Given the description of an element on the screen output the (x, y) to click on. 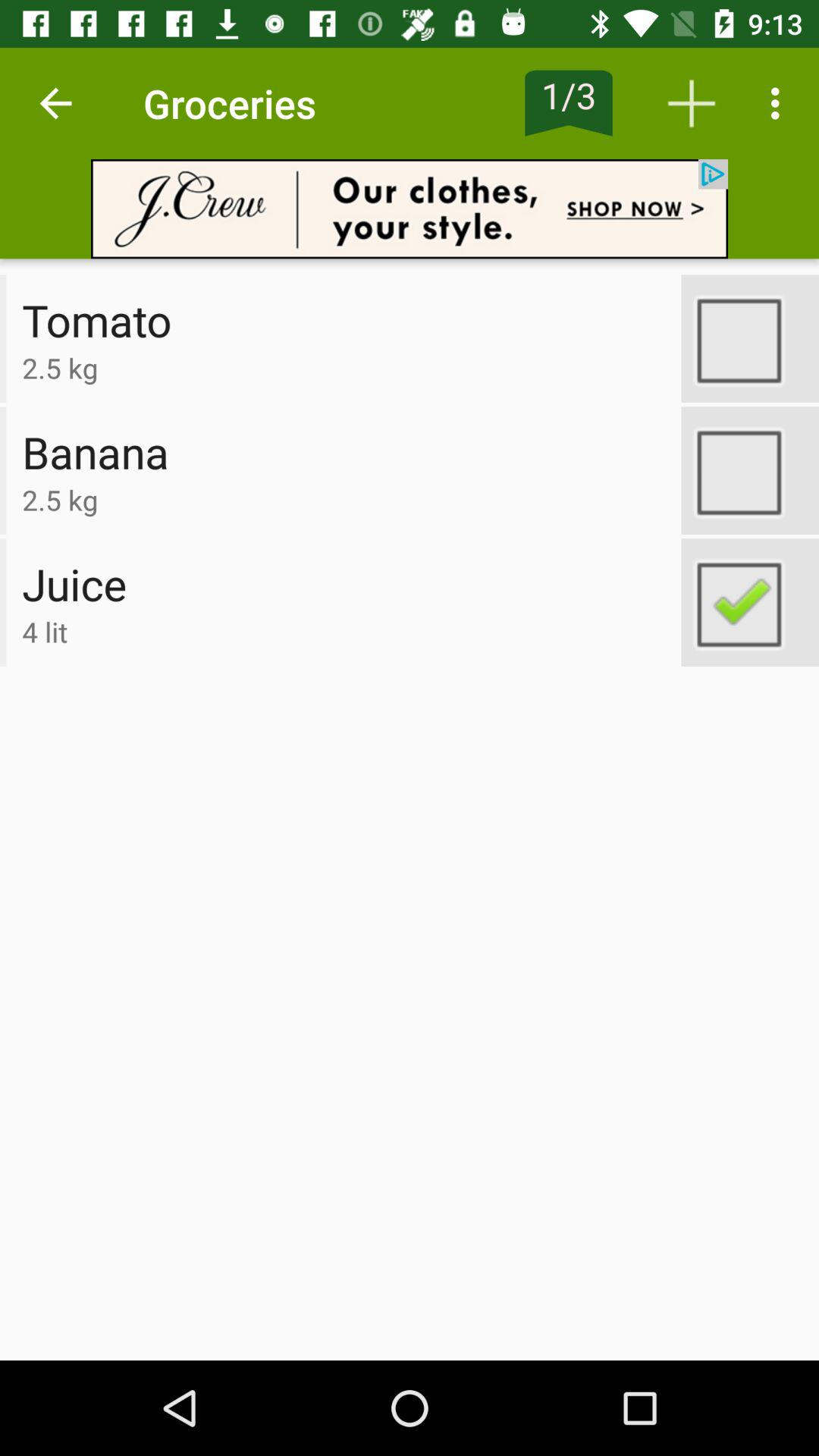
open advertisement (409, 208)
